Given the description of an element on the screen output the (x, y) to click on. 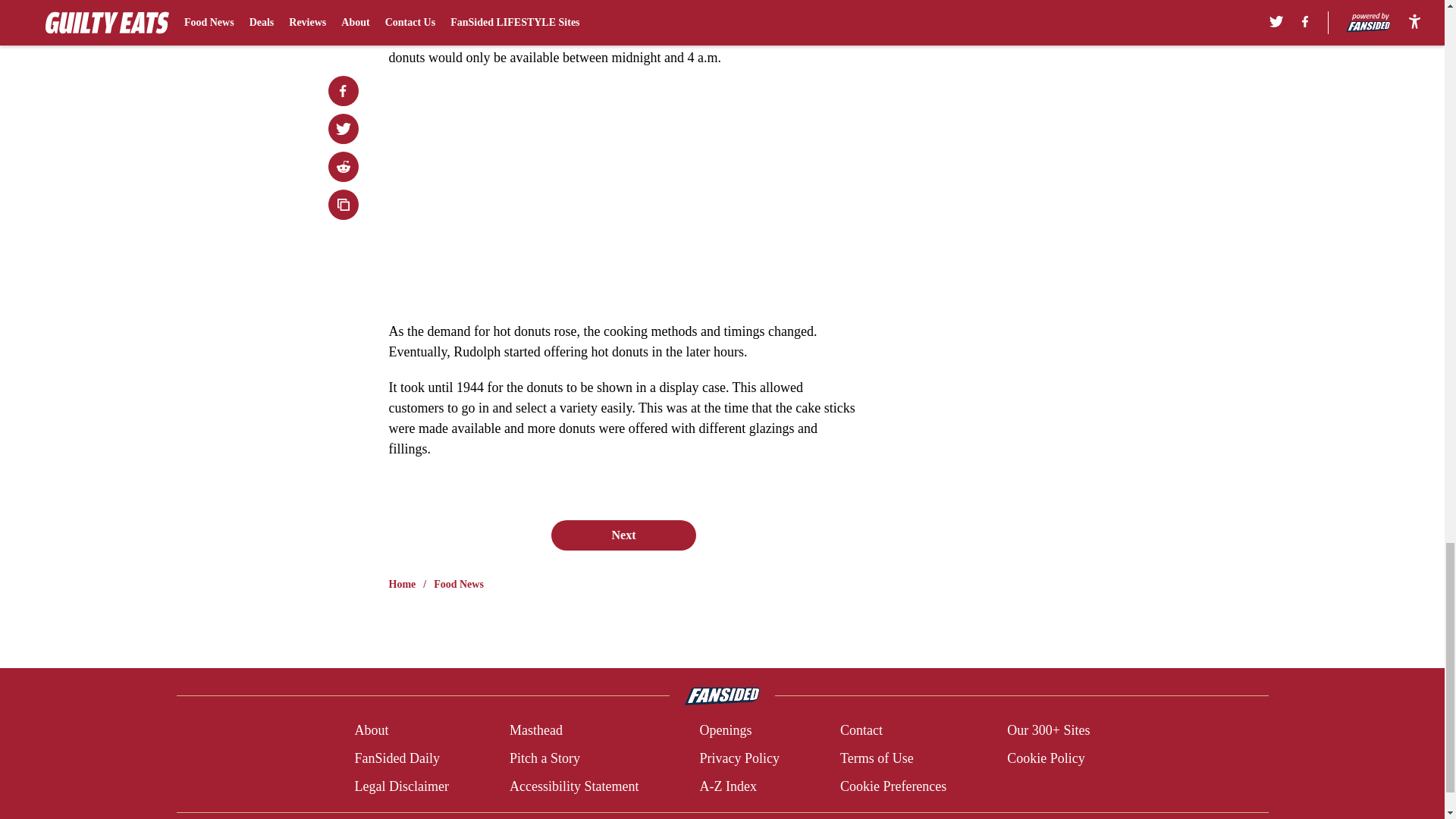
Cookie Policy (1045, 758)
Openings (724, 730)
About (370, 730)
Privacy Policy (738, 758)
Pitch a Story (544, 758)
FanSided Daily (396, 758)
Legal Disclaimer (400, 786)
Terms of Use (877, 758)
Food News (458, 584)
Next (622, 535)
Home (401, 584)
Masthead (535, 730)
Contact (861, 730)
